Given the description of an element on the screen output the (x, y) to click on. 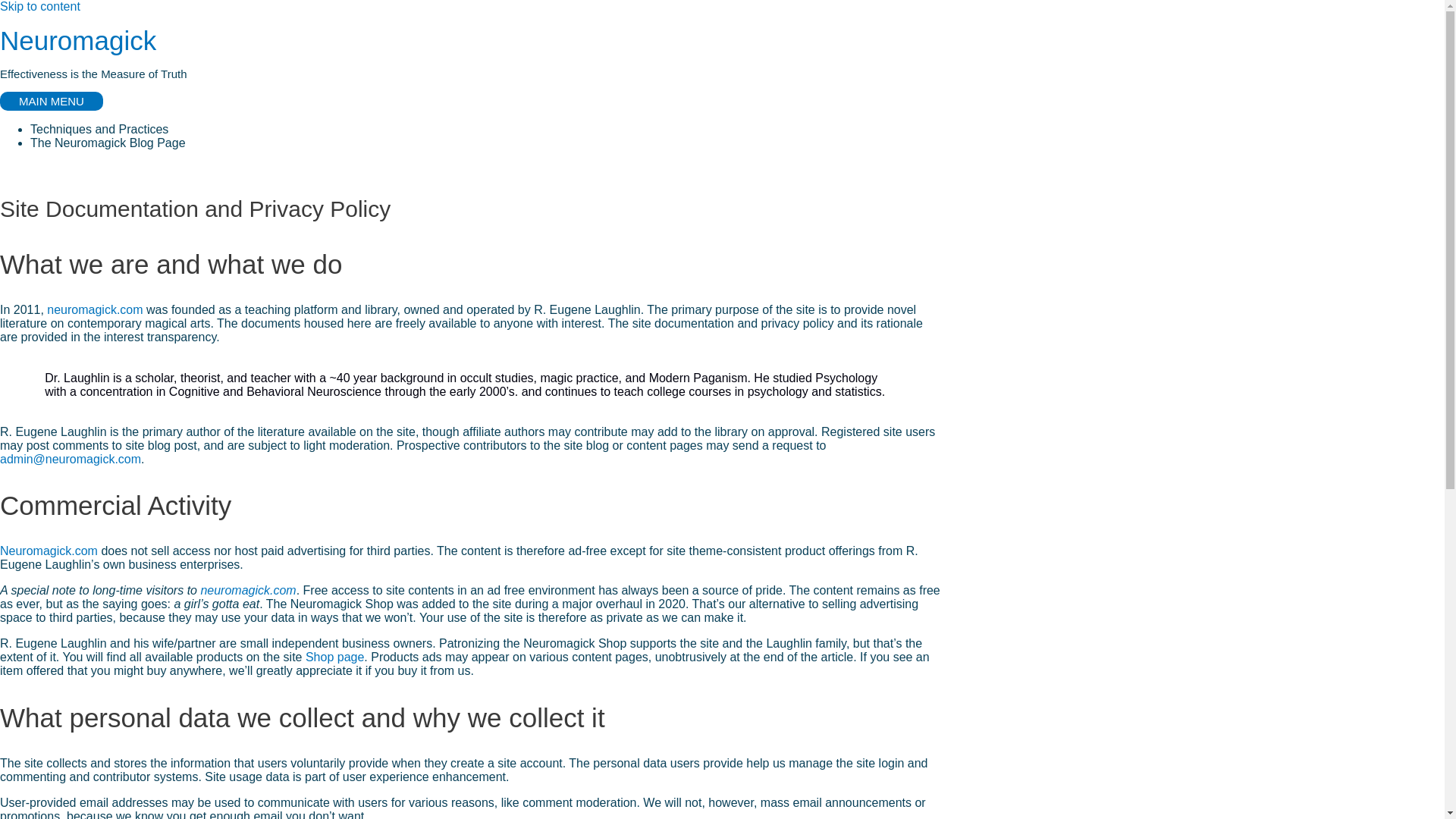
Neuromagick.com (48, 550)
neuromagick.com (92, 309)
neuromagick.com (247, 590)
Shop page (334, 656)
Neuromagick (77, 40)
Techniques and Practices (99, 128)
Skip to content (40, 6)
Skip to content (40, 6)
The Neuromagick Blog Page (108, 142)
MAIN MENU (51, 100)
